Given the description of an element on the screen output the (x, y) to click on. 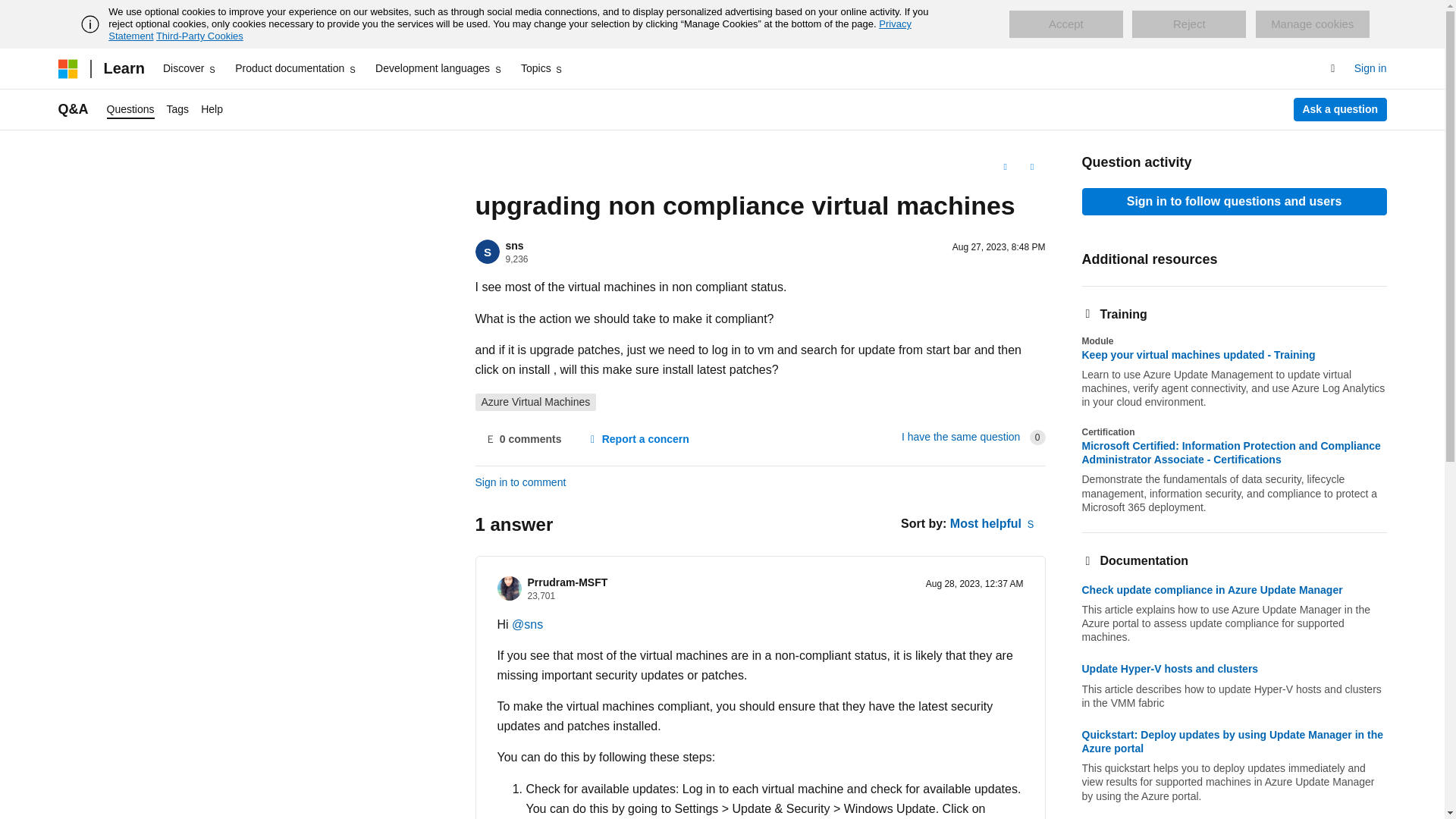
Reputation points (516, 258)
Learn (123, 68)
Skip to main content (11, 11)
Sign in (1370, 68)
Report a concern (637, 439)
Reject (1189, 23)
Ask a question (1340, 109)
Questions (130, 109)
Share this question (1031, 166)
Privacy Statement (509, 29)
